Given the description of an element on the screen output the (x, y) to click on. 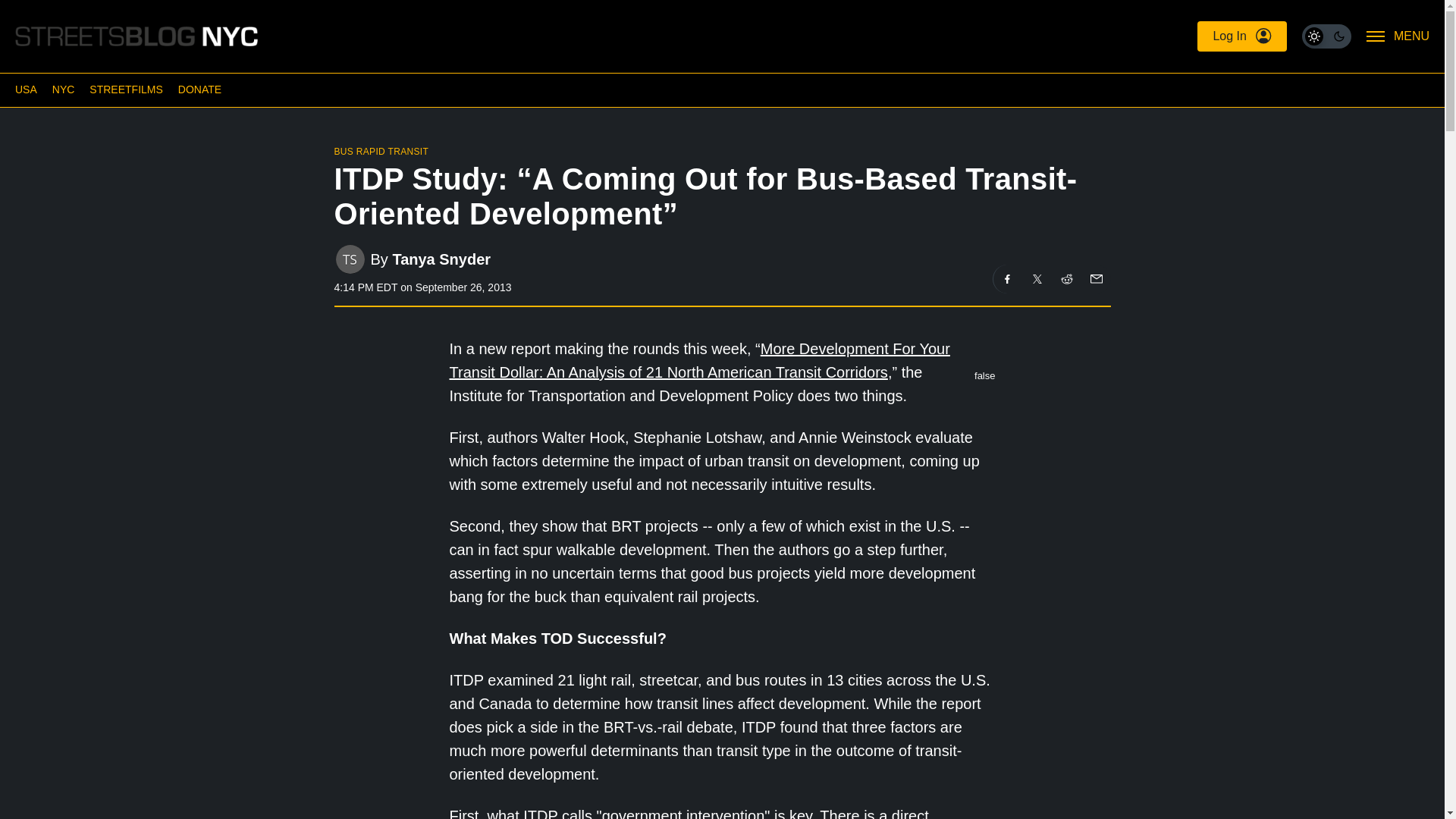
Tanya Snyder (440, 259)
BUS RAPID TRANSIT (380, 151)
NYC (63, 89)
USA (25, 89)
MENU (1398, 36)
Share on Facebook (1007, 278)
DONATE (199, 89)
STREETFILMS (124, 89)
Log In (1240, 36)
Share on Email (1095, 278)
